Given the description of an element on the screen output the (x, y) to click on. 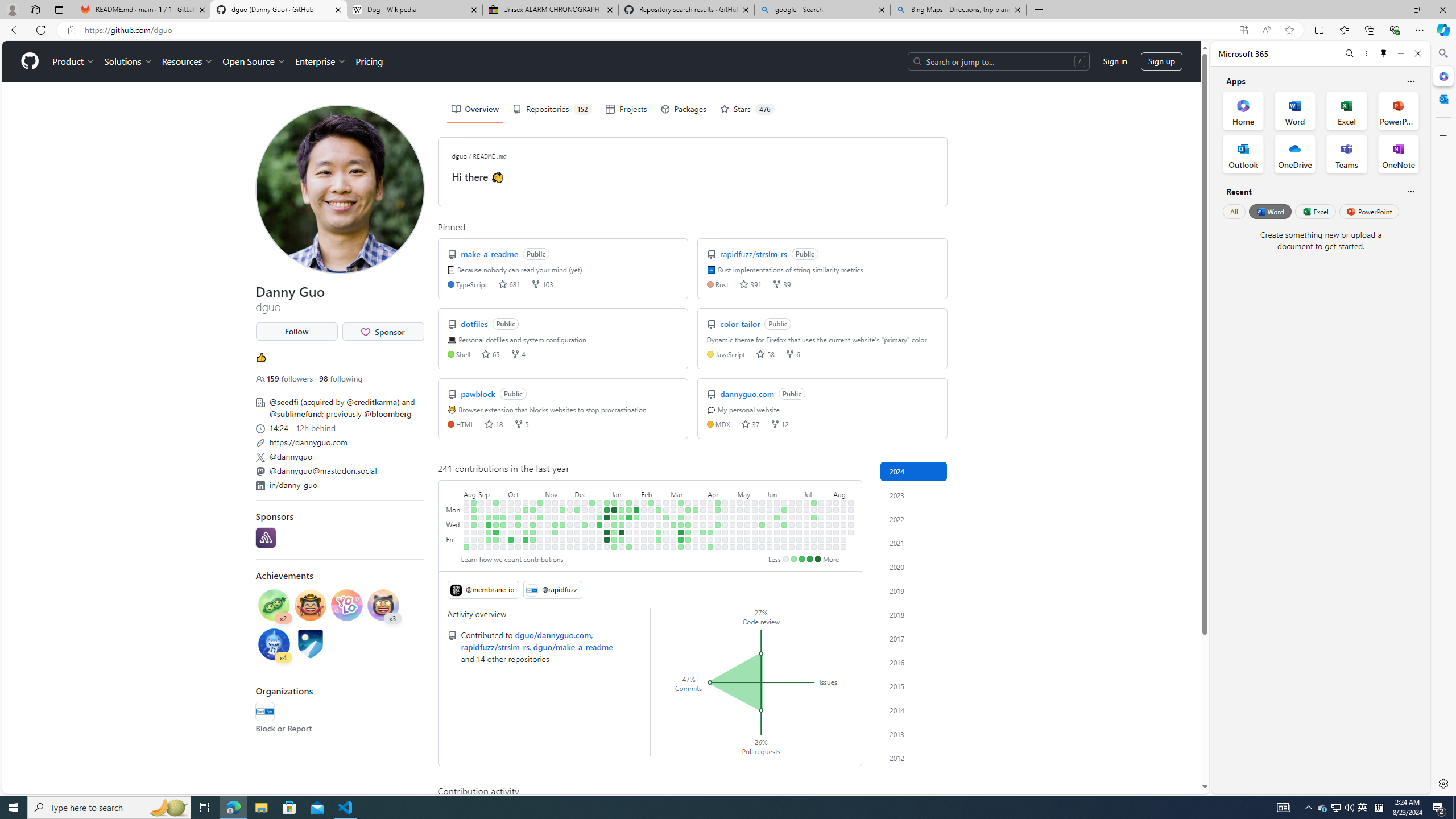
dotfiles (475, 323)
No contributions on August 10th. (836, 546)
No contributions on October 3rd. (510, 517)
Achievement: YOLO (346, 605)
No contributions on November 28th. (569, 517)
No contributions on April 1st. (703, 509)
No contributions on May 1st. (732, 524)
Sign up (1161, 61)
2 contributions on January 30th. (636, 517)
1 contribution on April 17th. (717, 524)
stars 18 (493, 423)
1 contribution on September 27th. (503, 524)
No contributions on March 11th. (681, 509)
Enterprise (319, 60)
